Given the description of an element on the screen output the (x, y) to click on. 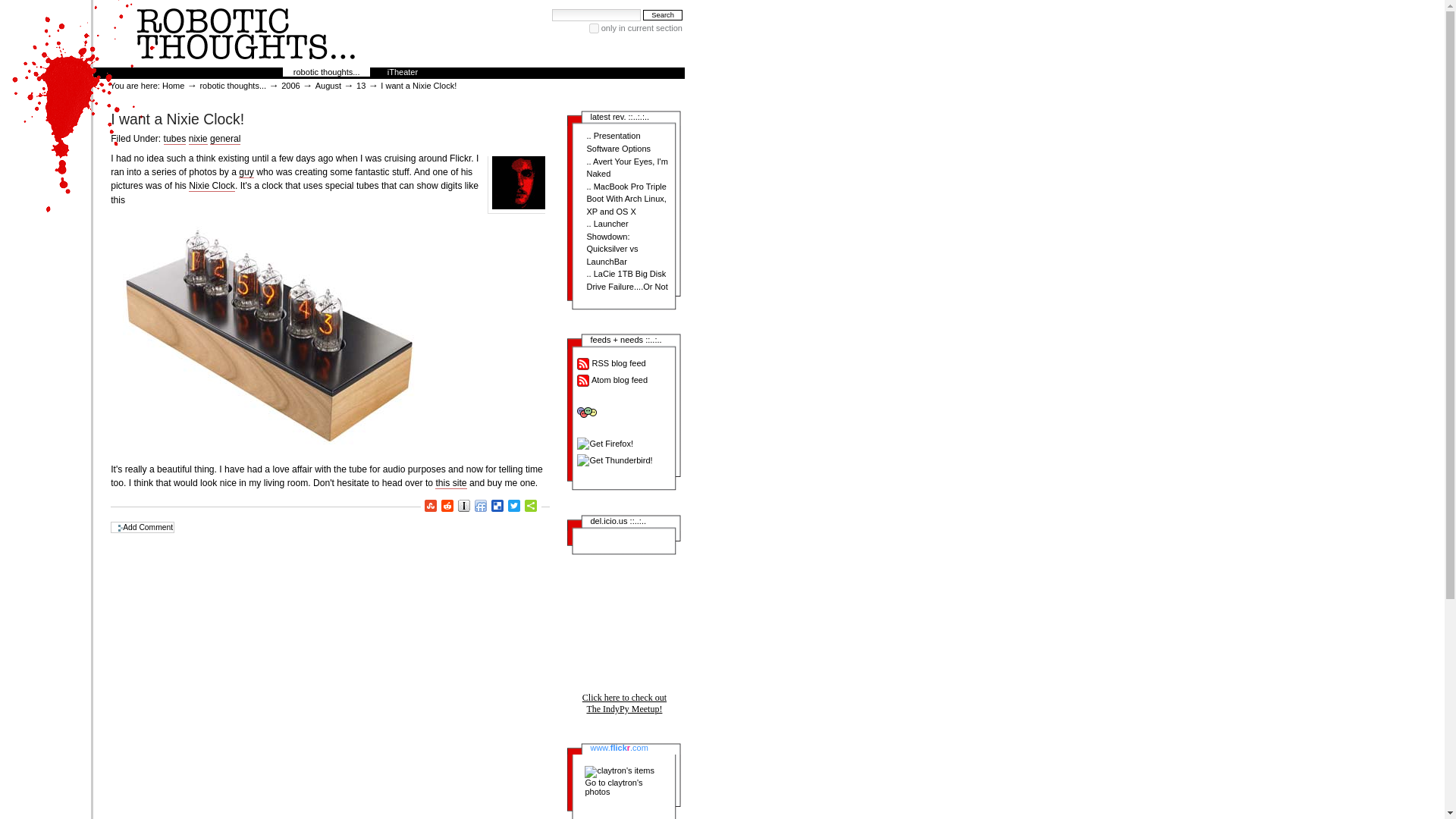
2006 (290, 85)
tubes (174, 138)
Add Comment (142, 527)
guy (245, 172)
Add Comment (142, 527)
robotic thoughts... (518, 182)
August (327, 85)
robotic thoughts... (325, 71)
iTheater (402, 71)
robotic thoughts... (232, 85)
nixie (198, 138)
Home (172, 85)
this site (450, 482)
logo (245, 33)
